Given the description of an element on the screen output the (x, y) to click on. 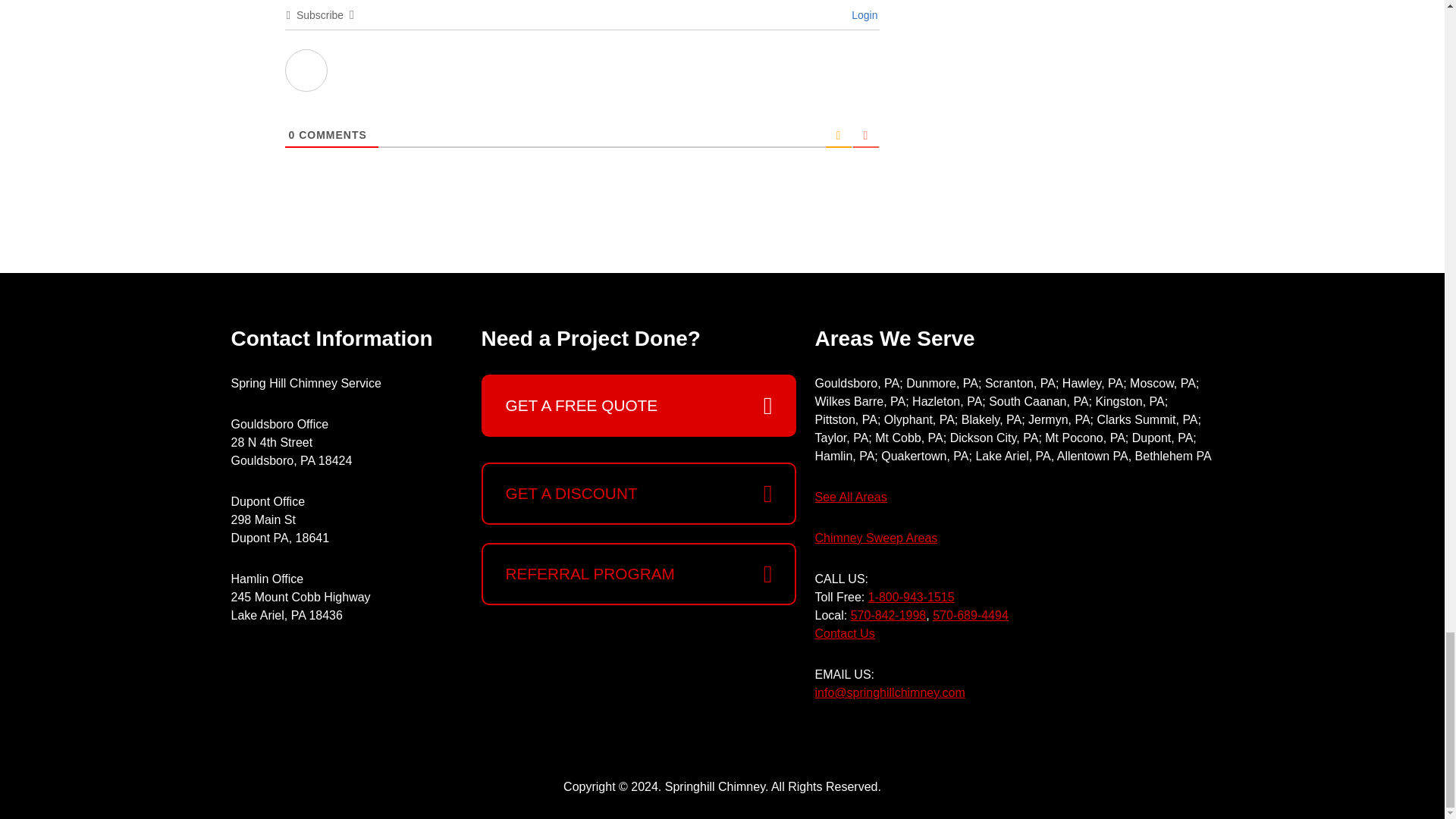
Login (862, 15)
